Given the description of an element on the screen output the (x, y) to click on. 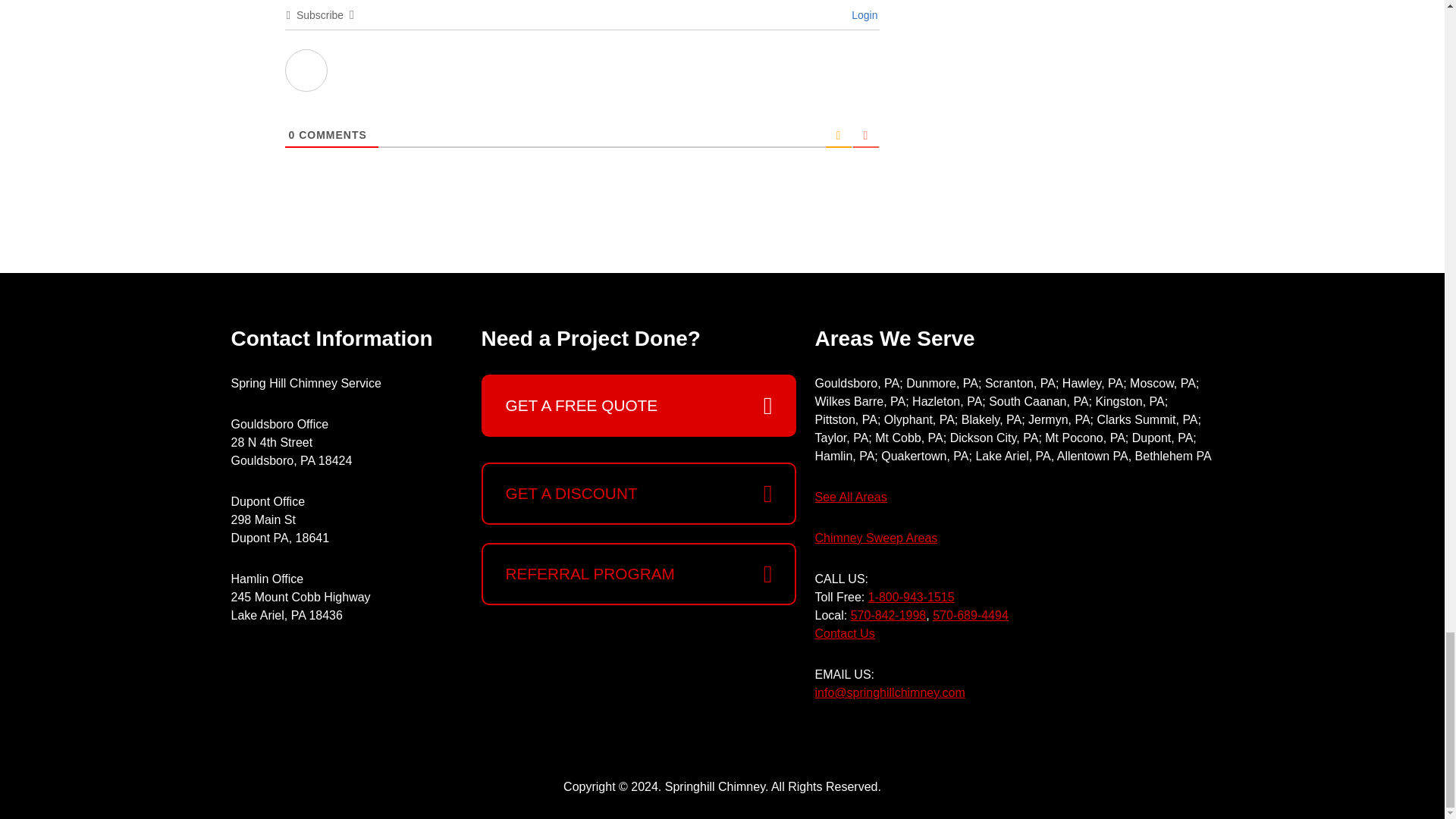
Login (862, 15)
